Given the description of an element on the screen output the (x, y) to click on. 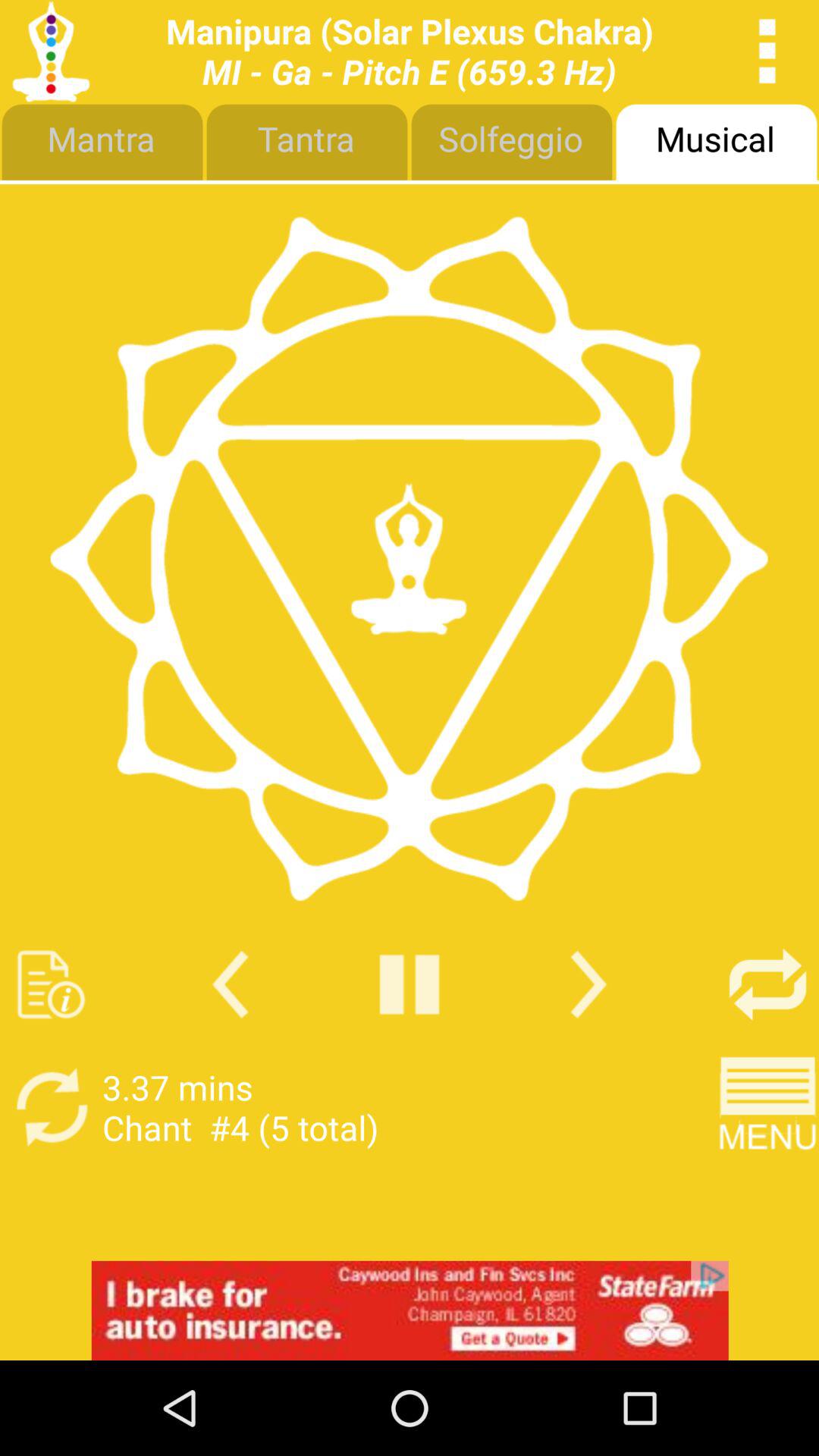
pause playing (409, 984)
